Given the description of an element on the screen output the (x, y) to click on. 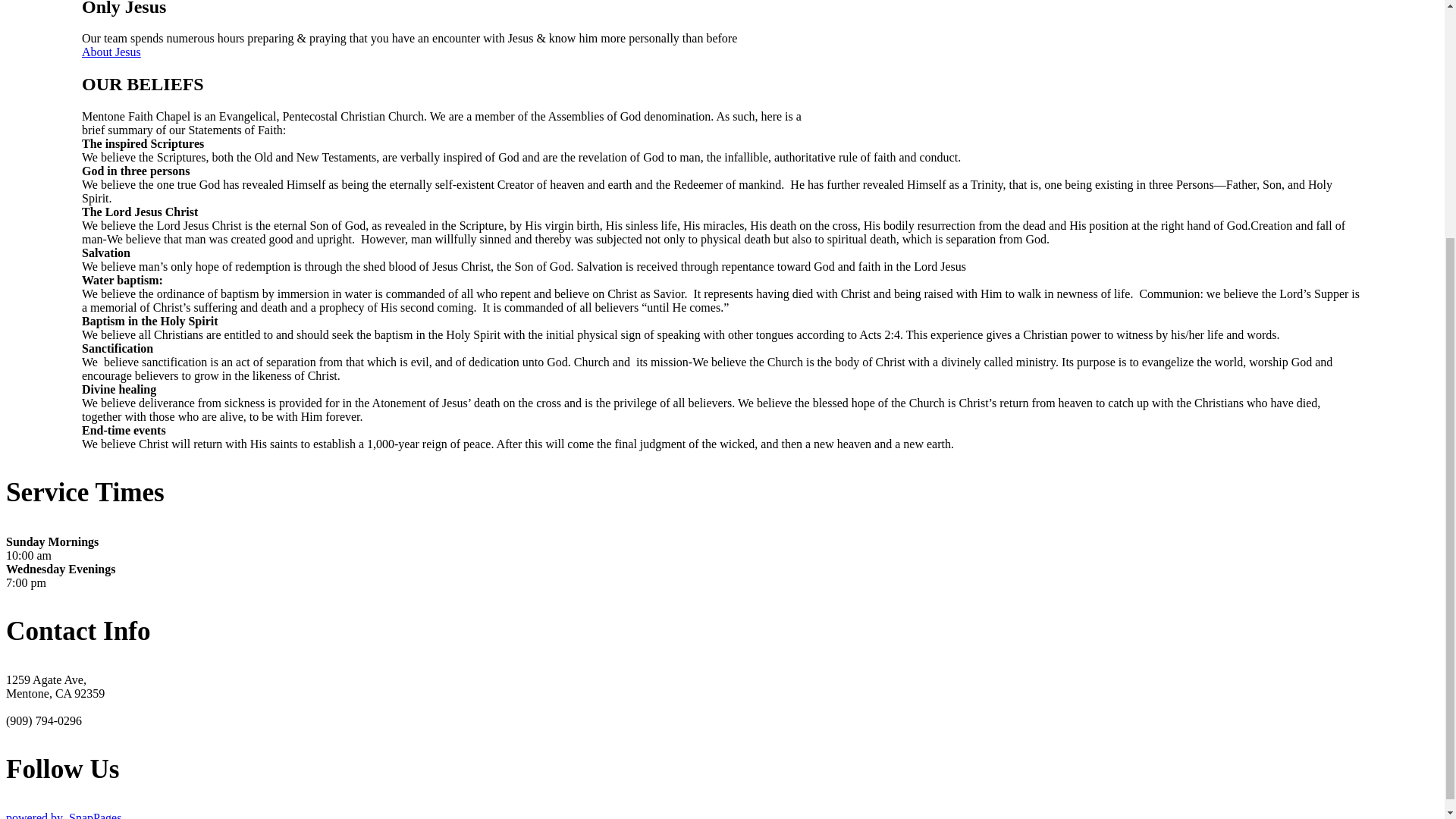
About Jesus (111, 51)
